Given the description of an element on the screen output the (x, y) to click on. 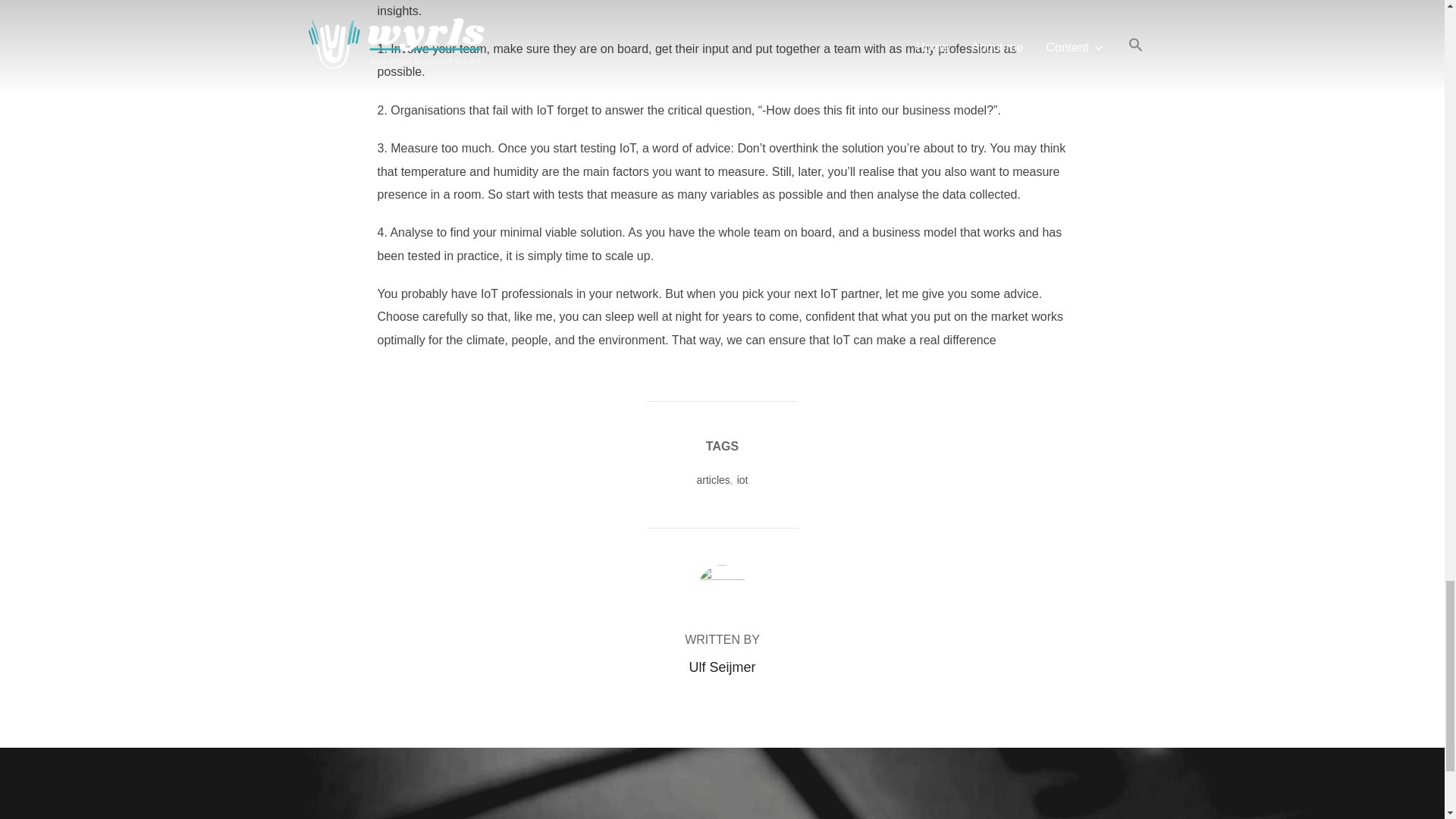
iot (742, 480)
Posts by Ulf Seijmer (721, 667)
Ulf Seijmer (721, 667)
articles (712, 480)
